Given the description of an element on the screen output the (x, y) to click on. 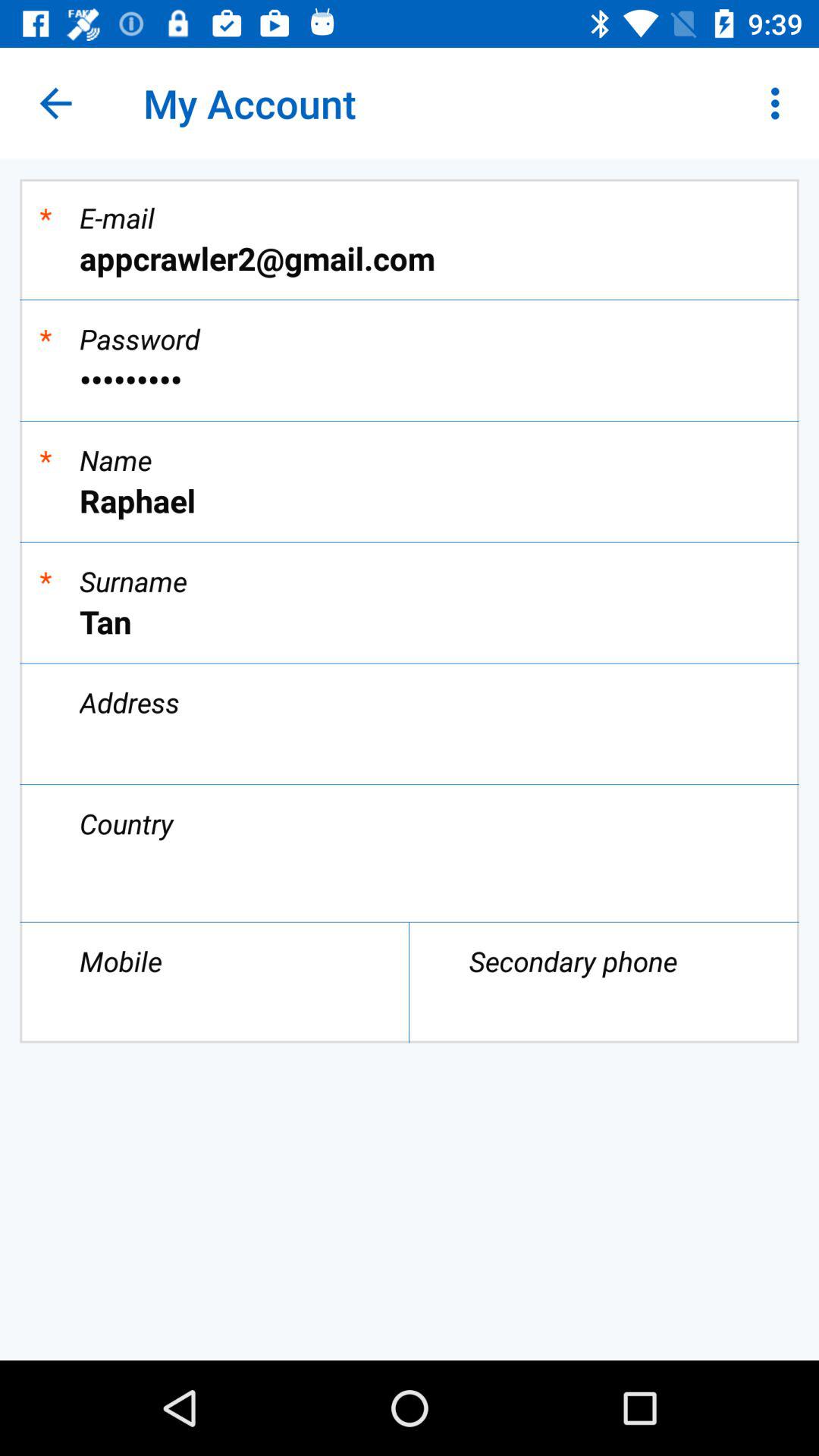
press tan icon (409, 621)
